Given the description of an element on the screen output the (x, y) to click on. 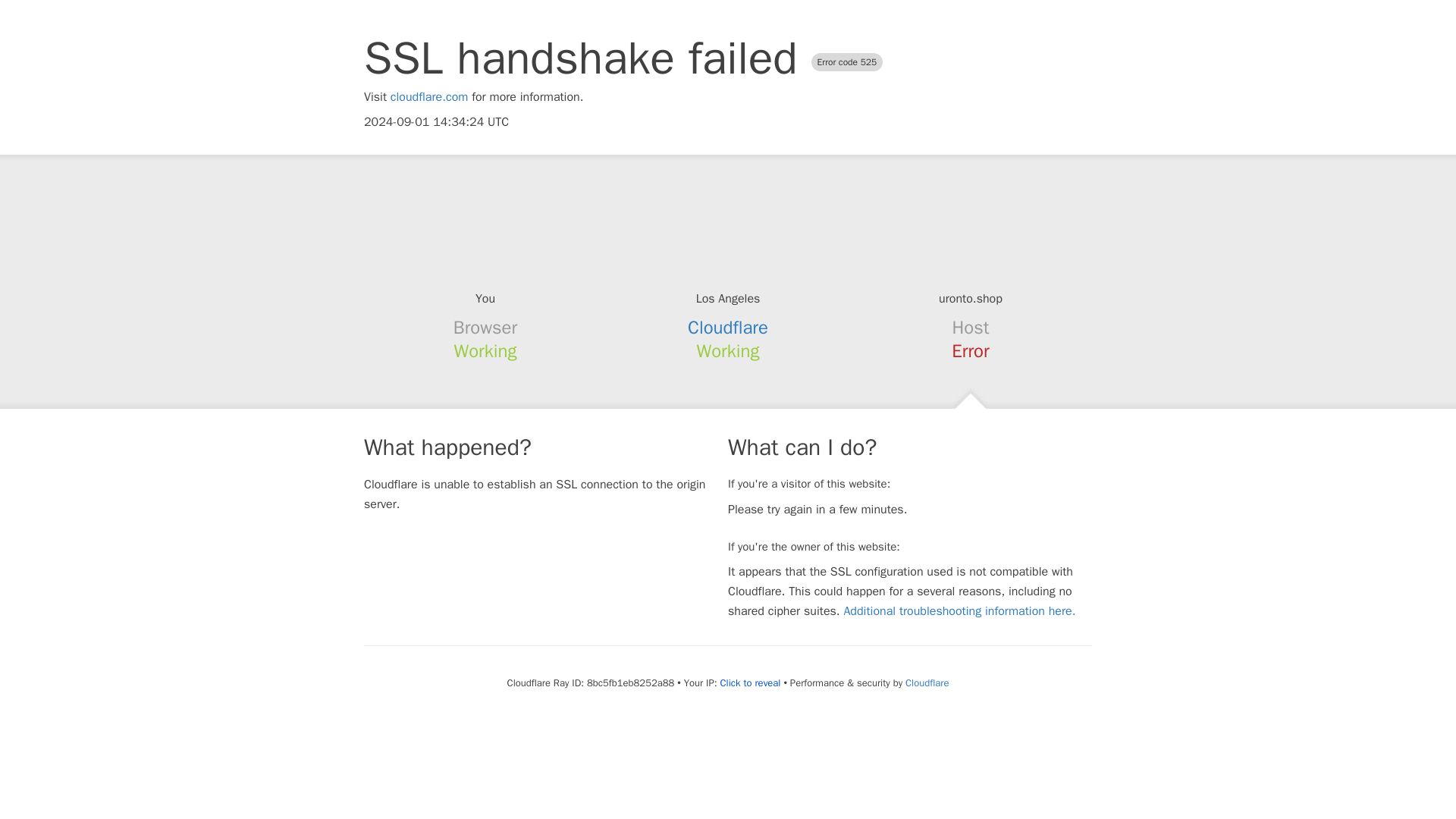
Additional troubleshooting information here. (959, 611)
Click to reveal (750, 683)
cloudflare.com (429, 96)
Cloudflare (727, 327)
Cloudflare (927, 682)
